Given the description of an element on the screen output the (x, y) to click on. 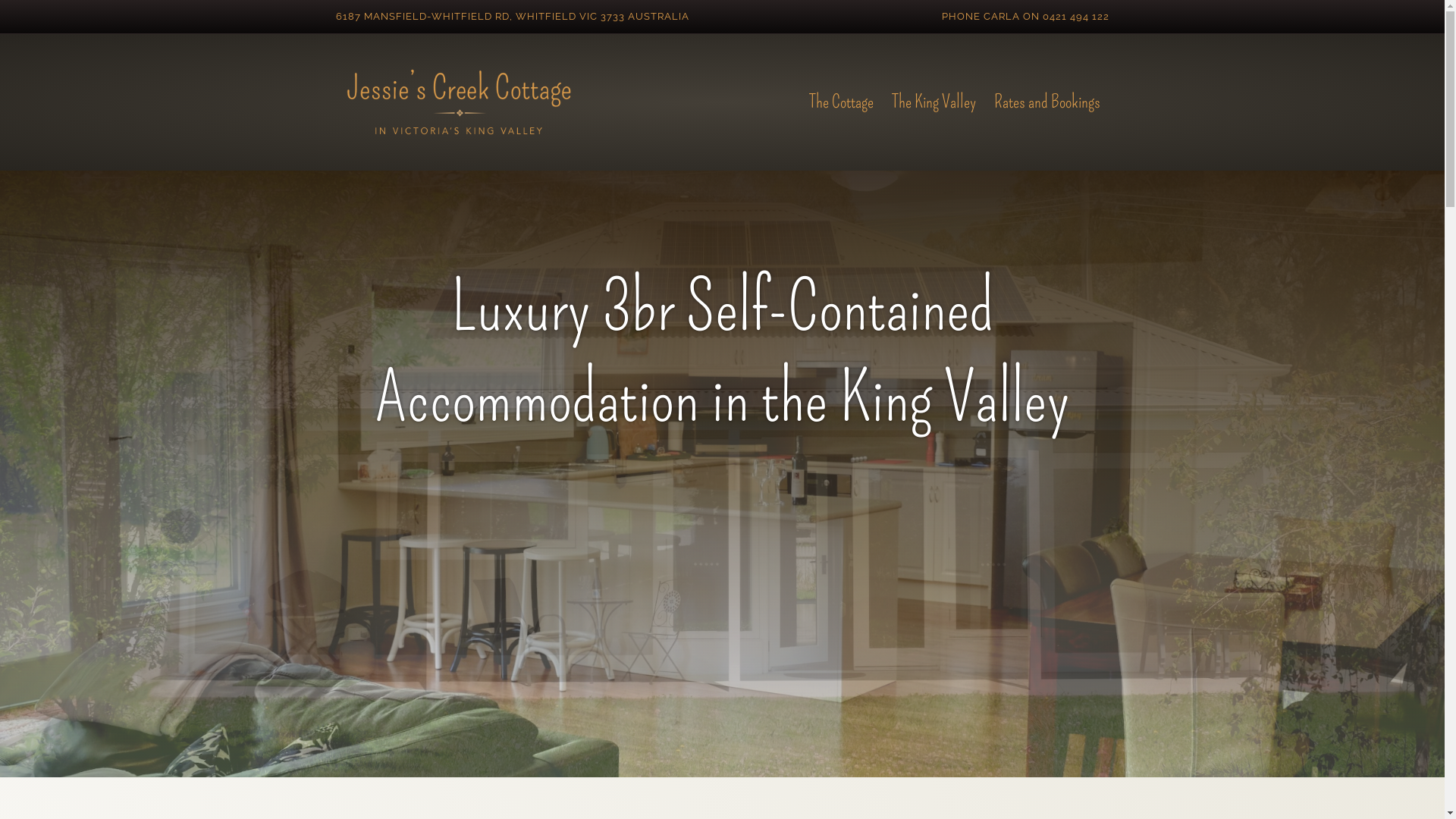
Rates and Bookings Element type: text (1046, 102)
The King Valley Element type: text (933, 102)
The Cottage Element type: text (840, 102)
